Given the description of an element on the screen output the (x, y) to click on. 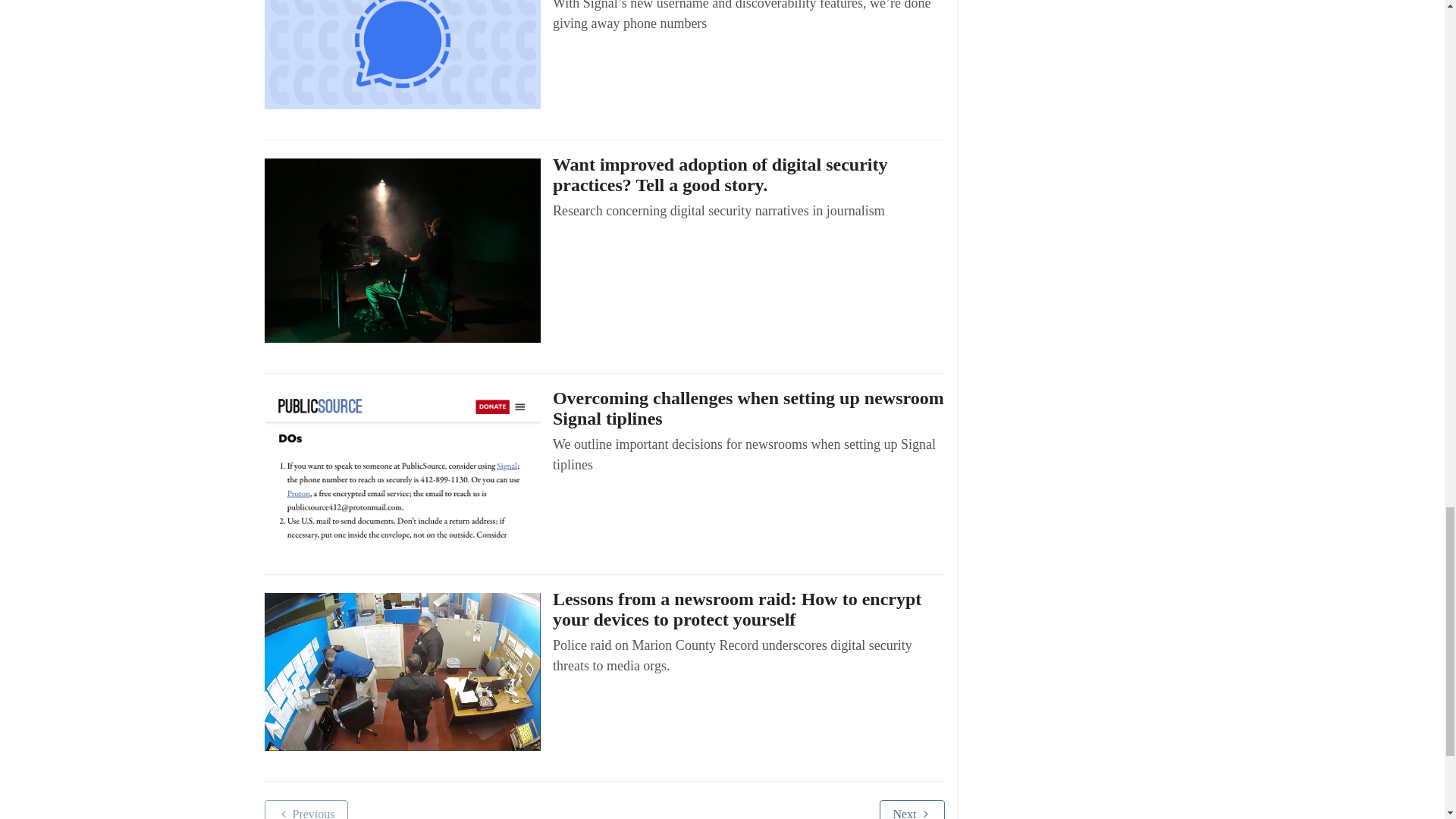
Next (911, 809)
